Given the description of an element on the screen output the (x, y) to click on. 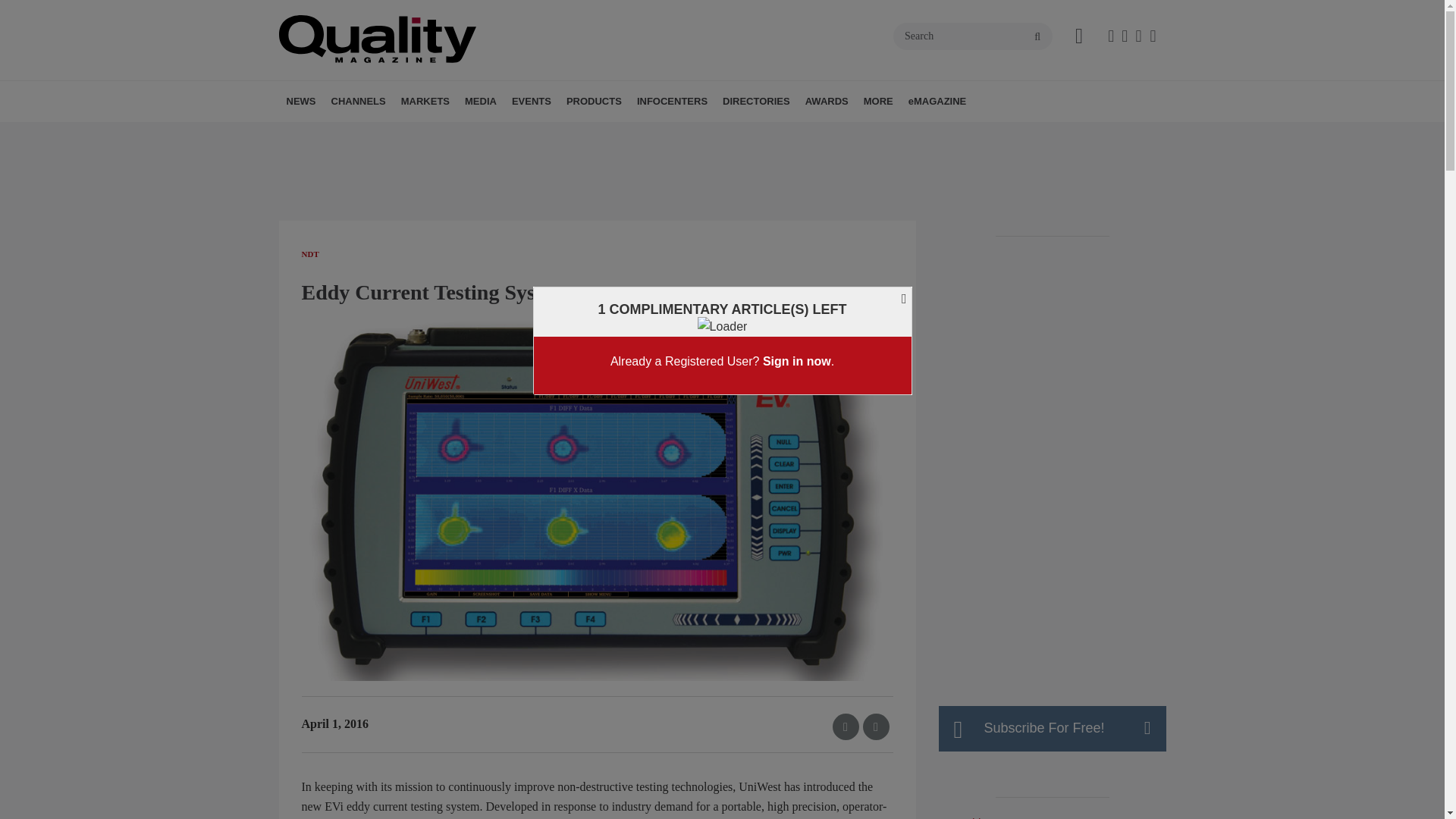
CHANNELS (358, 101)
search (1037, 37)
AUTOMATION (417, 134)
MANAGEMENT (424, 134)
PODCASTS (565, 134)
GREEN MANUFACTURING (511, 134)
AUTOMOTIVE (494, 134)
A WORD ON QUALITY PUZZLE (551, 134)
EBOOK (558, 134)
MEDICAL (515, 134)
